Given the description of an element on the screen output the (x, y) to click on. 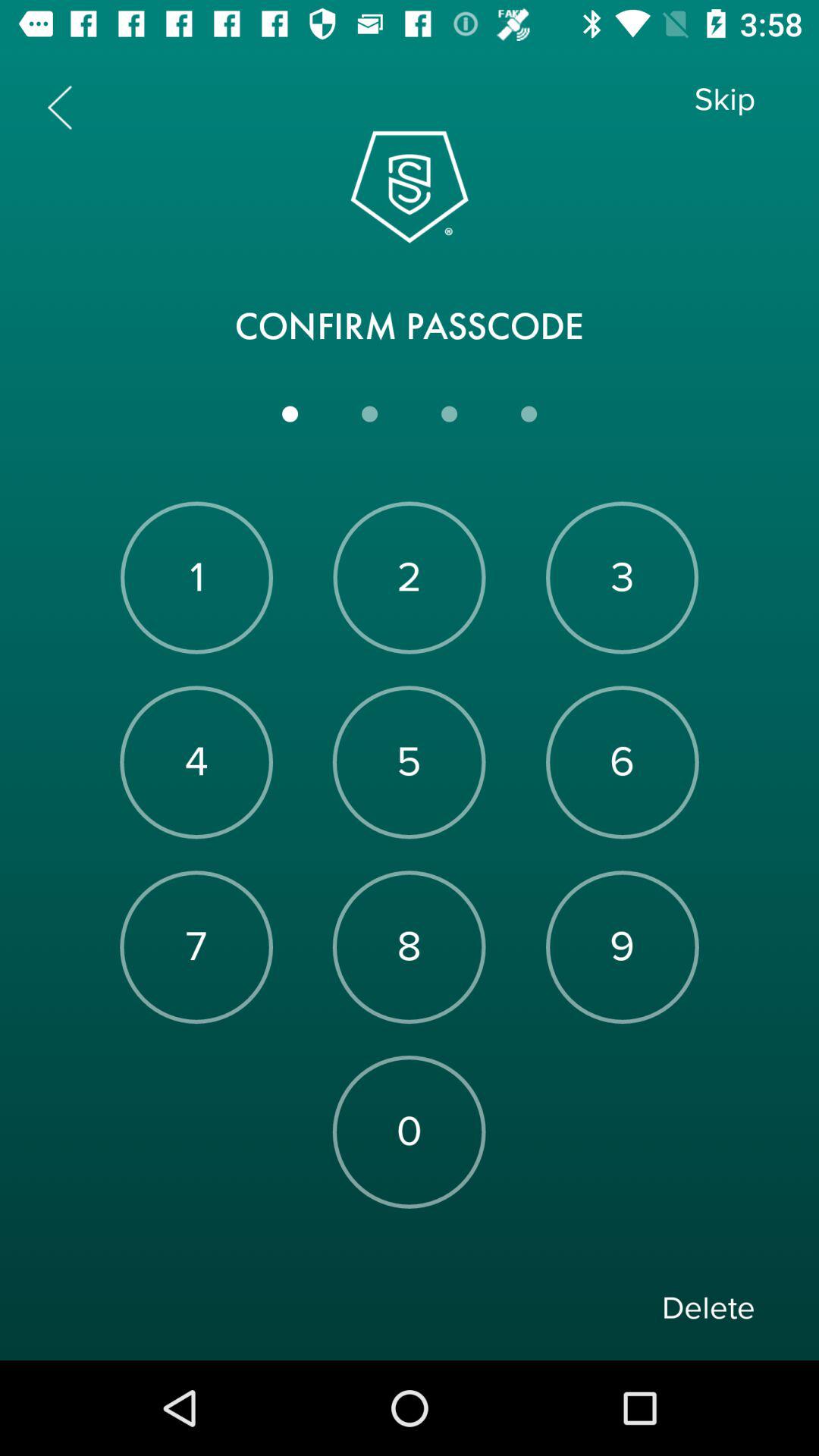
go to previous (59, 107)
